Given the description of an element on the screen output the (x, y) to click on. 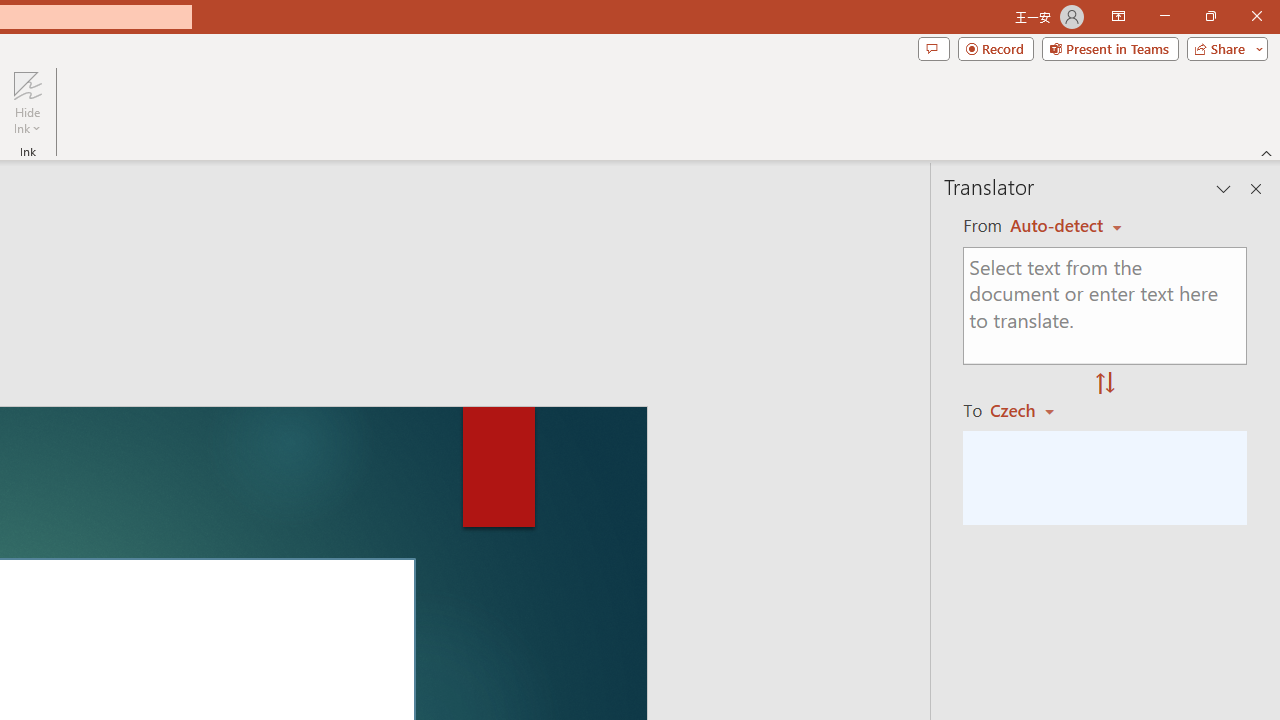
Auto-detect (1066, 225)
Czech (1030, 409)
Swap "from" and "to" languages. (1105, 383)
